Given the description of an element on the screen output the (x, y) to click on. 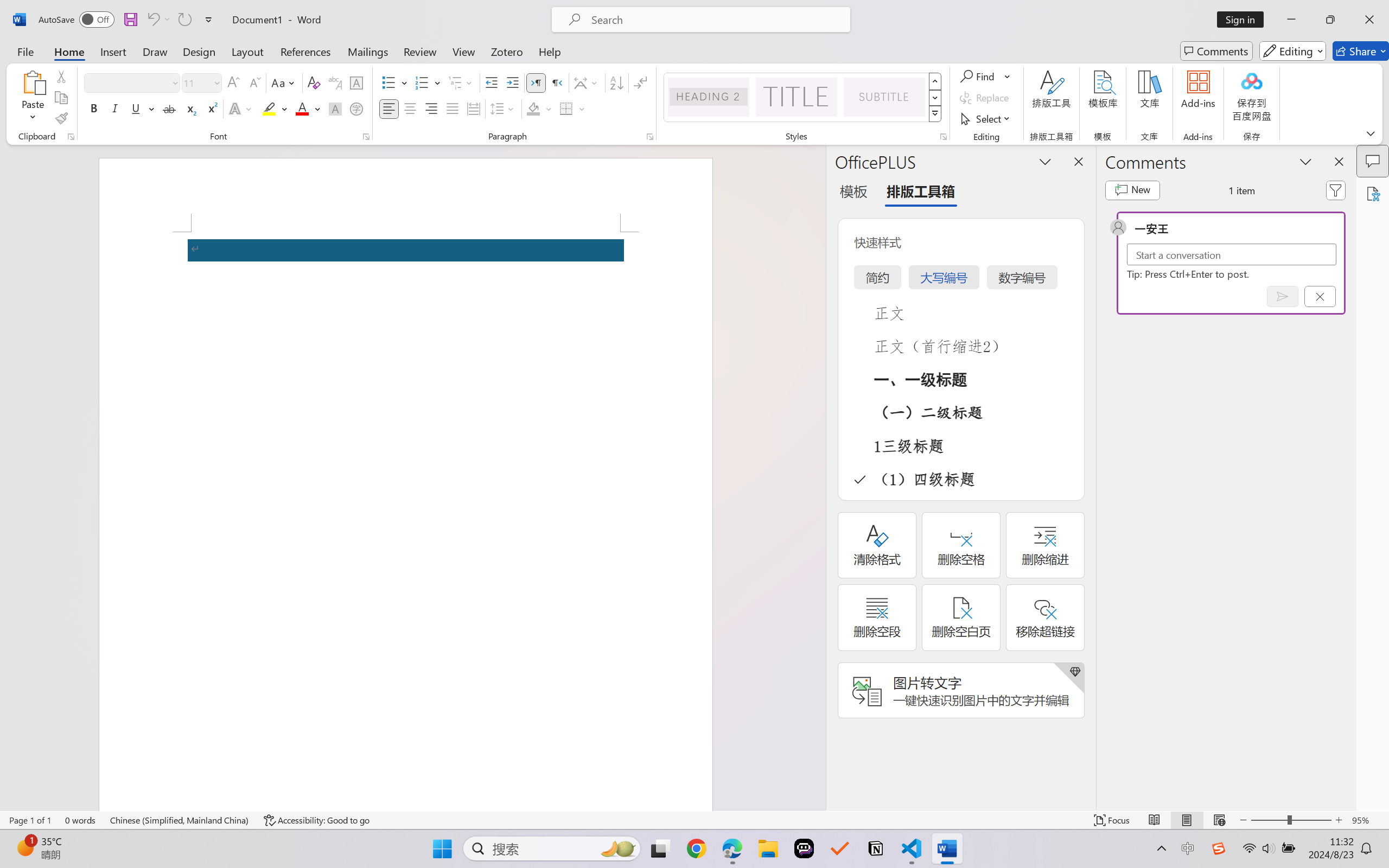
Title (796, 96)
Left-to-Right (535, 82)
Cancel (1320, 296)
